Given the description of an element on the screen output the (x, y) to click on. 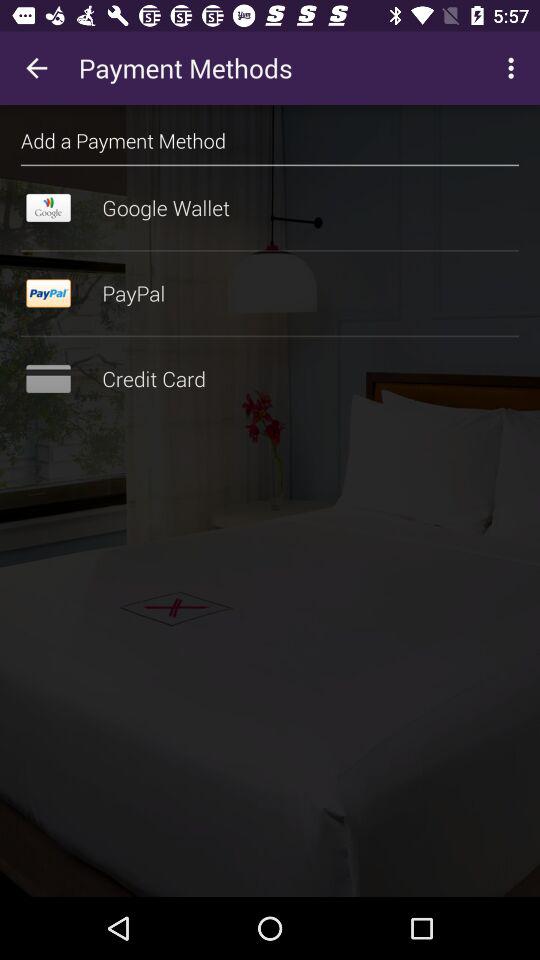
open item above the credit card item (270, 336)
